Given the description of an element on the screen output the (x, y) to click on. 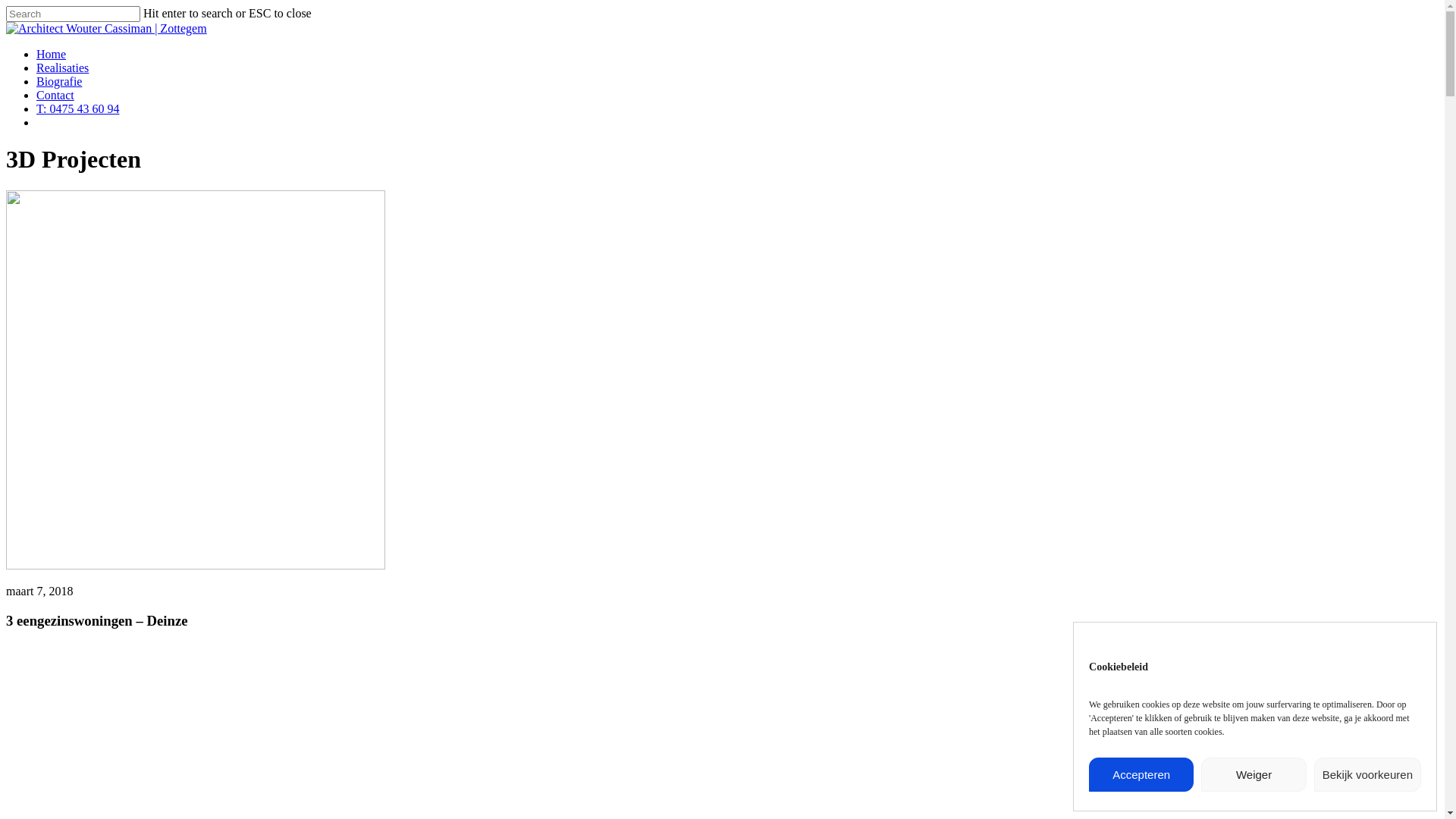
Skip to main content Element type: text (5, 5)
Weiger Element type: text (1253, 774)
Contact Element type: text (55, 94)
Realisaties Element type: text (62, 67)
Bekijk voorkeuren Element type: text (1367, 774)
Biografie Element type: text (58, 81)
Home Element type: text (50, 53)
T: 0475 43 60 94 Element type: text (77, 108)
Accepteren Element type: text (1140, 774)
